Given the description of an element on the screen output the (x, y) to click on. 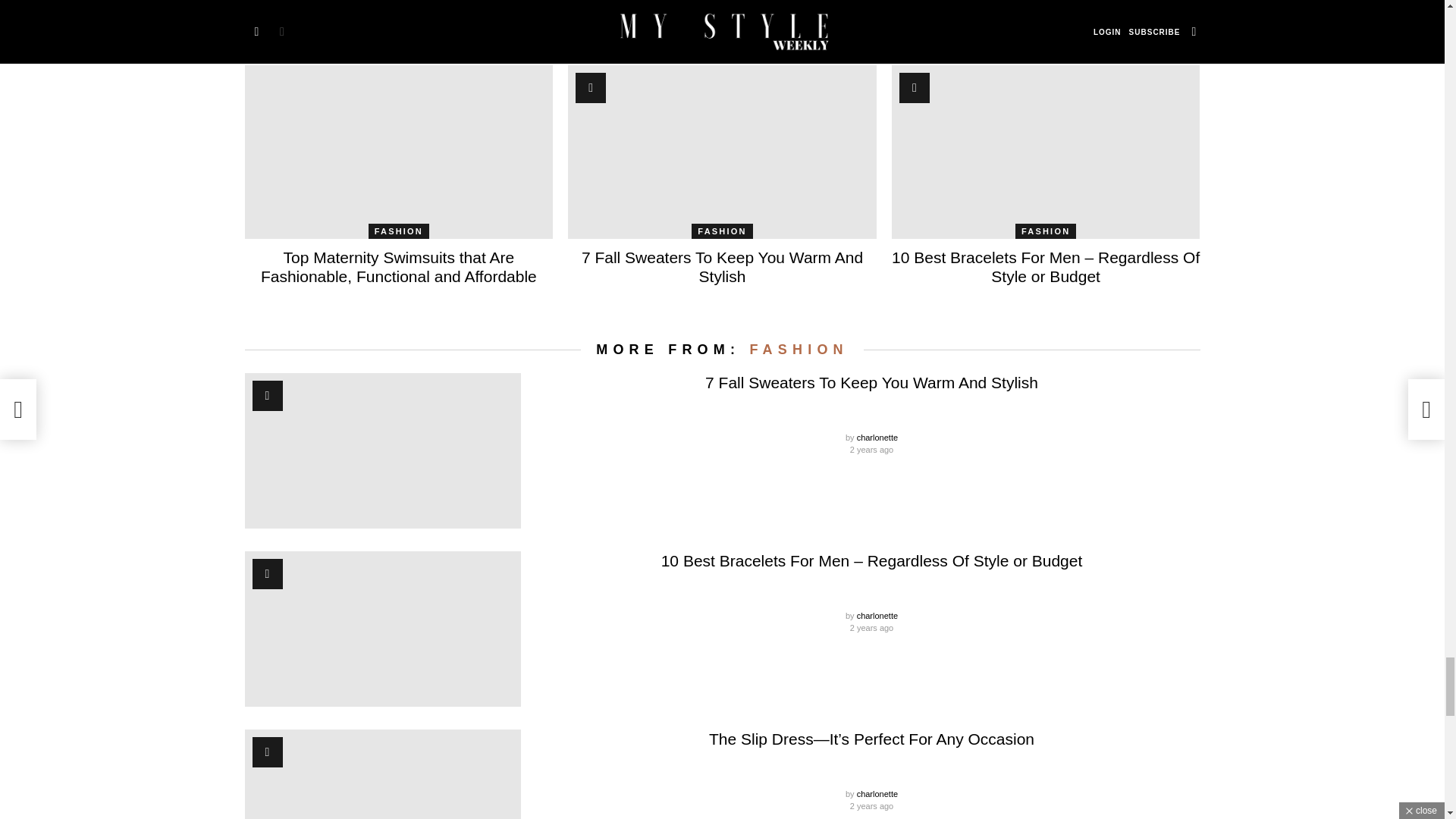
Wallet Purses: A Little Luxury For Every Outfit (398, 22)
9 Formal Wear Rules Every Man Should Know (721, 22)
